Given the description of an element on the screen output the (x, y) to click on. 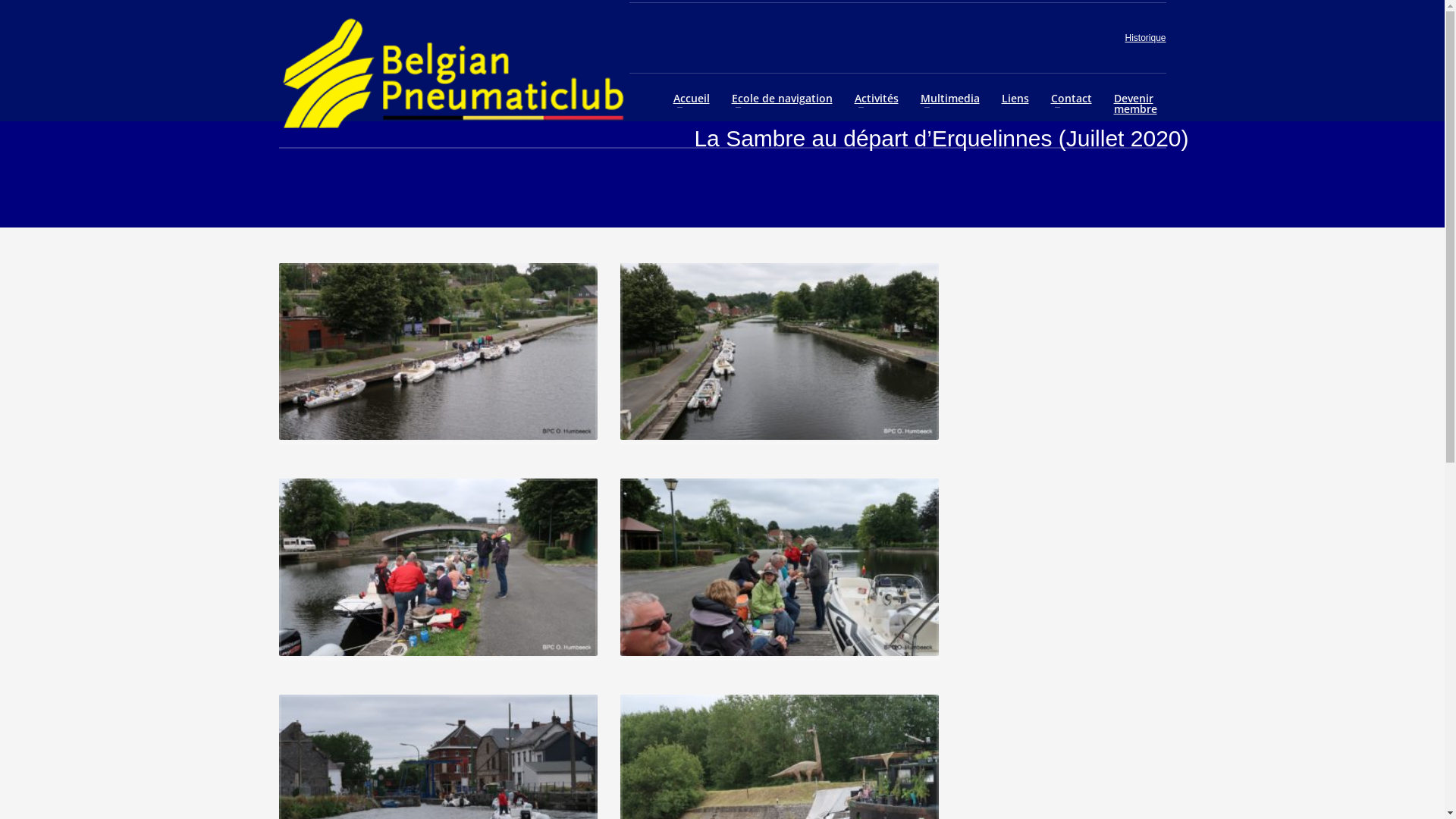
Contact Element type: text (1071, 98)
Devenir
membre Element type: text (1135, 103)
Multimedia Element type: text (949, 98)
Liens Element type: text (1015, 98)
Historique Element type: text (1144, 37)
Ecole de navigation Element type: text (781, 98)
Accueil Element type: text (691, 98)
